Given the description of an element on the screen output the (x, y) to click on. 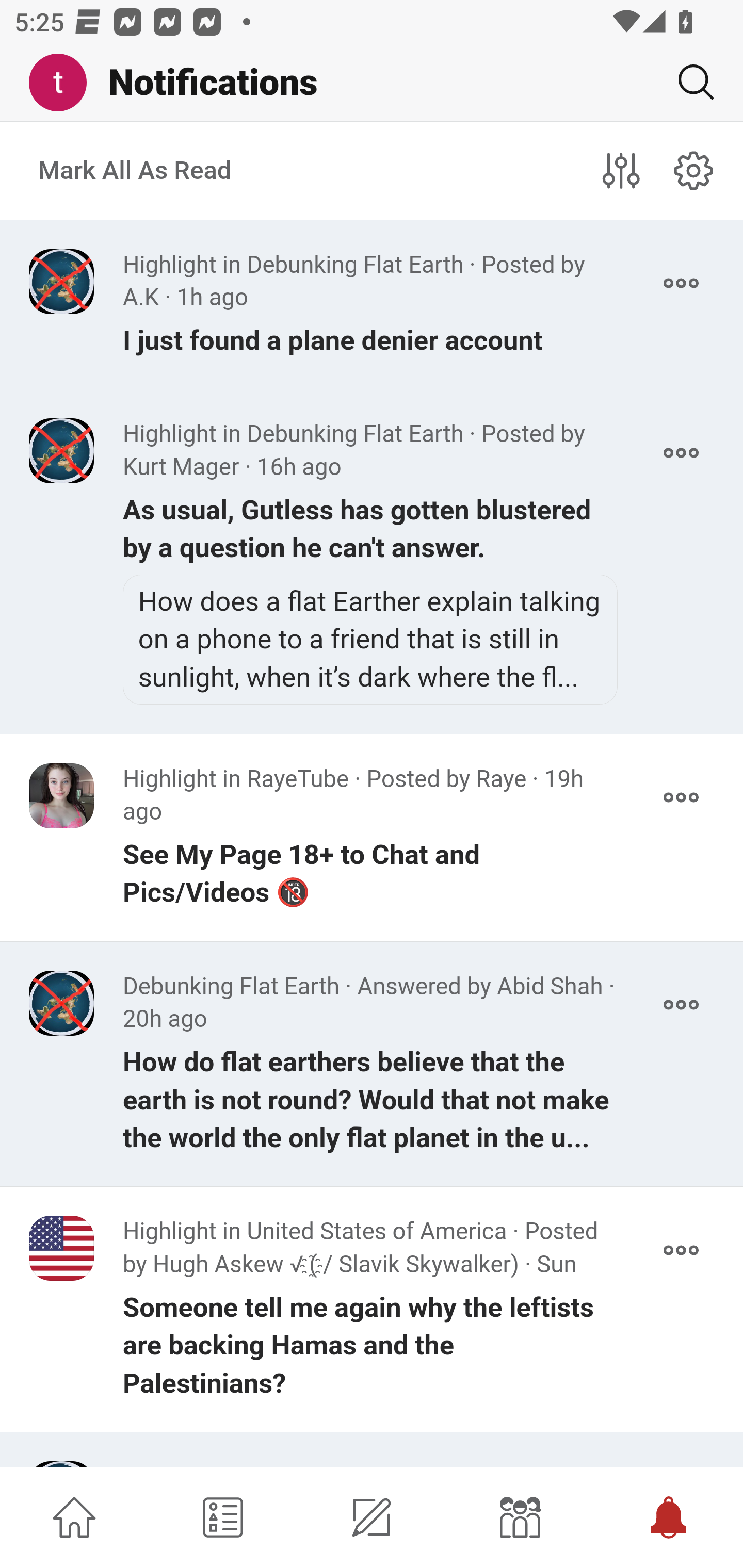
Me Notifications Search (371, 82)
Me (64, 83)
Search (688, 82)
Mark All As Read (135, 171)
notifications# (693, 170)
More (681, 282)
More (681, 452)
More (681, 797)
More (681, 1004)
More (681, 1250)
More (681, 1464)
